Given the description of an element on the screen output the (x, y) to click on. 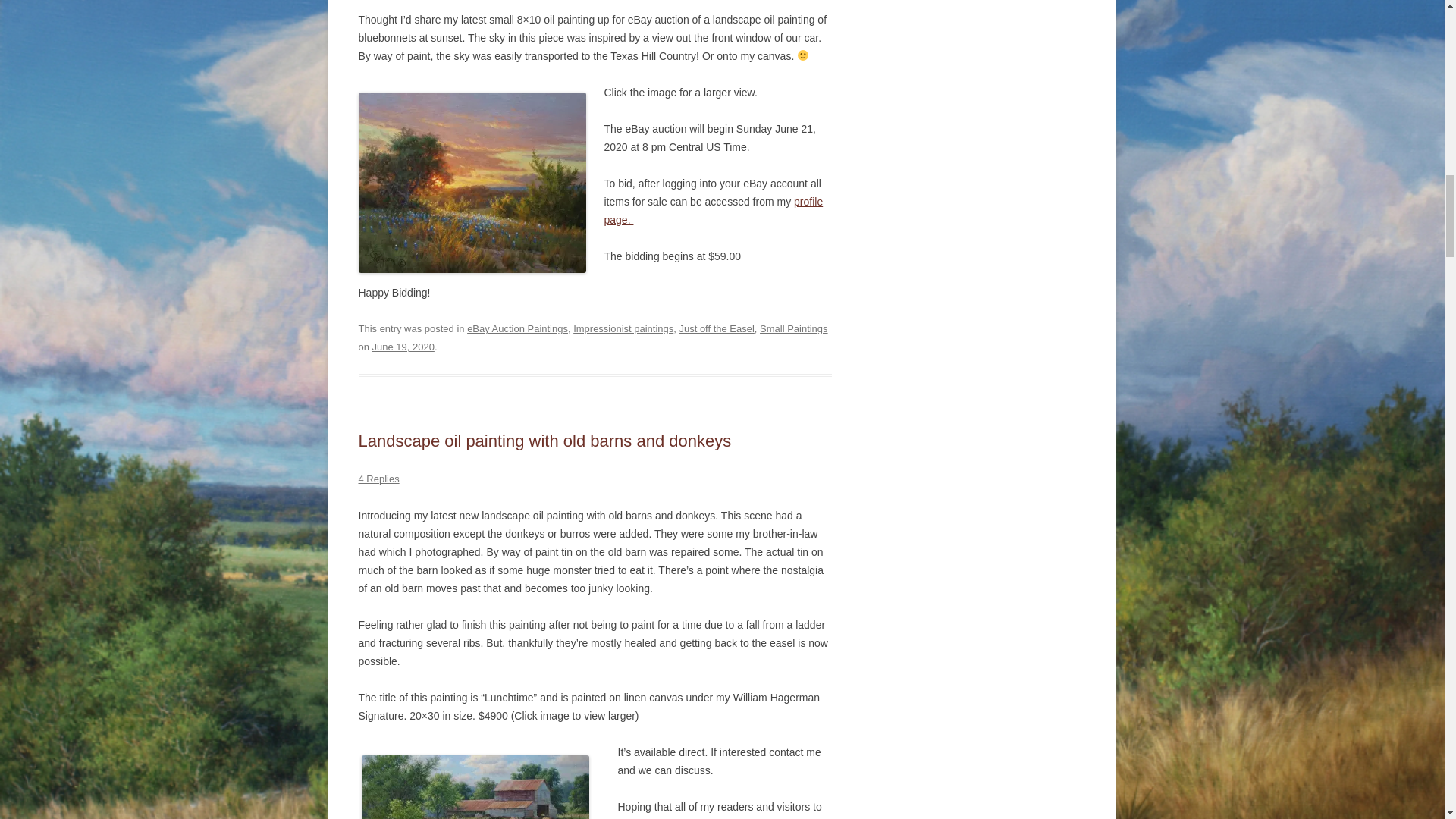
Landscape oil painting with old barns and donkeys (544, 440)
Just off the Easel (716, 328)
June 19, 2020 (402, 346)
Small Paintings (794, 328)
4 Replies (378, 478)
5:55 pm (402, 346)
profile page.  (713, 210)
Impressionist paintings (622, 328)
eBay Auction Paintings (517, 328)
